Given the description of an element on the screen output the (x, y) to click on. 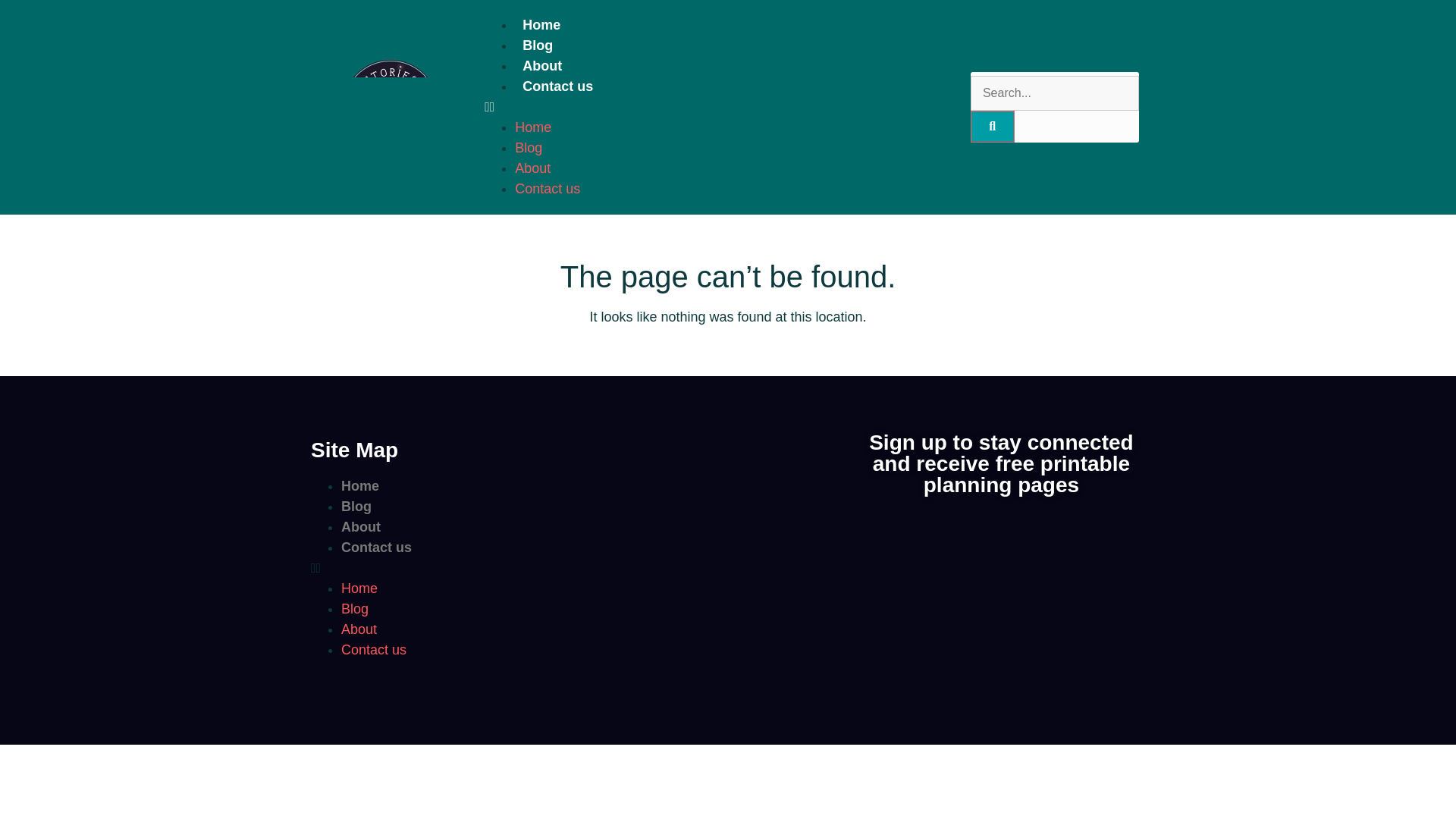
About (358, 629)
Blog (354, 608)
Home (533, 127)
Blog (528, 147)
Search (1054, 93)
About (360, 526)
Contact us (557, 86)
About (542, 65)
Home (541, 24)
Blog (537, 45)
